Given the description of an element on the screen output the (x, y) to click on. 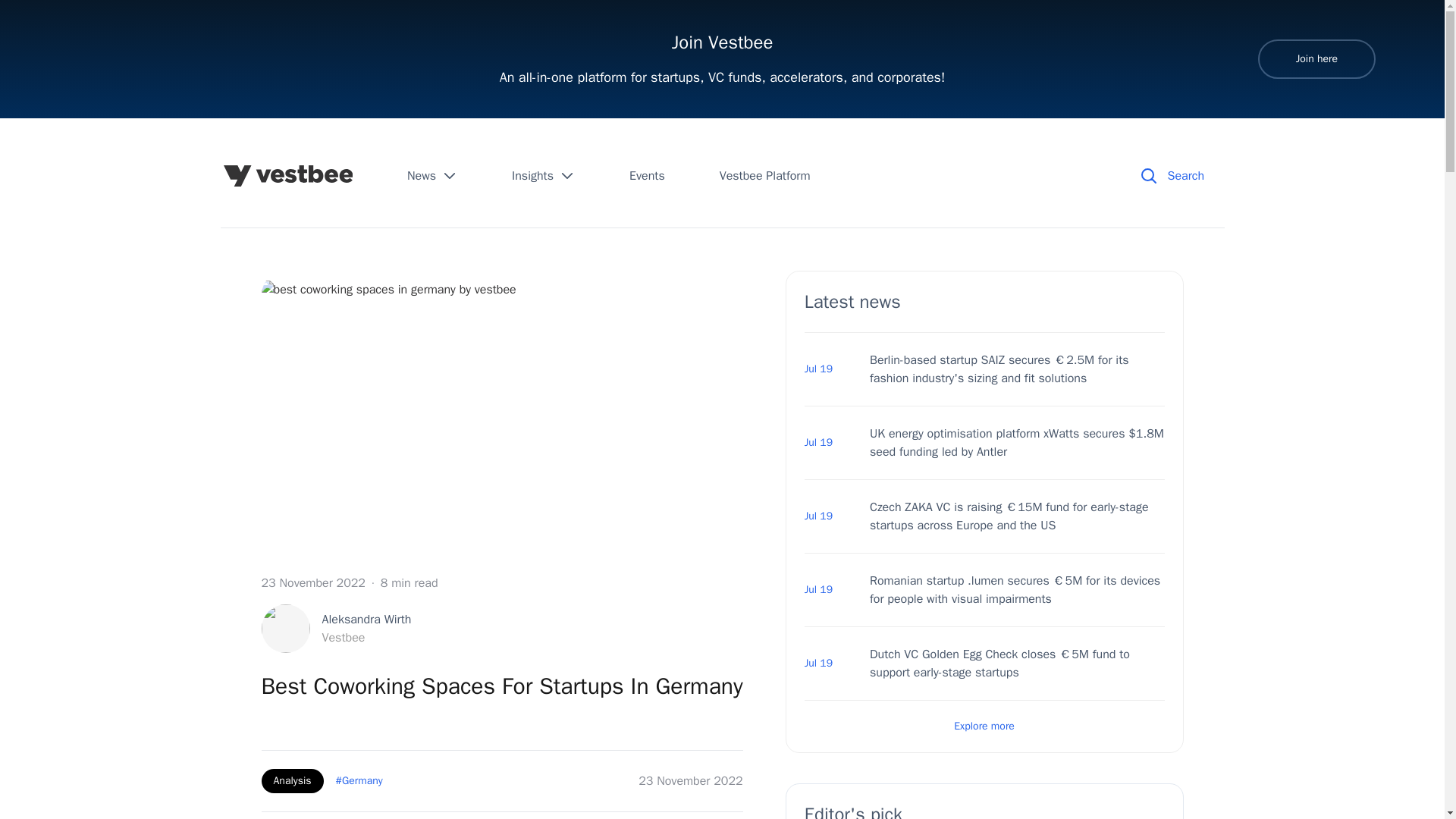
Events (646, 175)
Analysis (335, 628)
Join here (291, 781)
News (1316, 58)
Insights (431, 175)
Vestbee Platform (542, 175)
Explore more (764, 175)
